Given the description of an element on the screen output the (x, y) to click on. 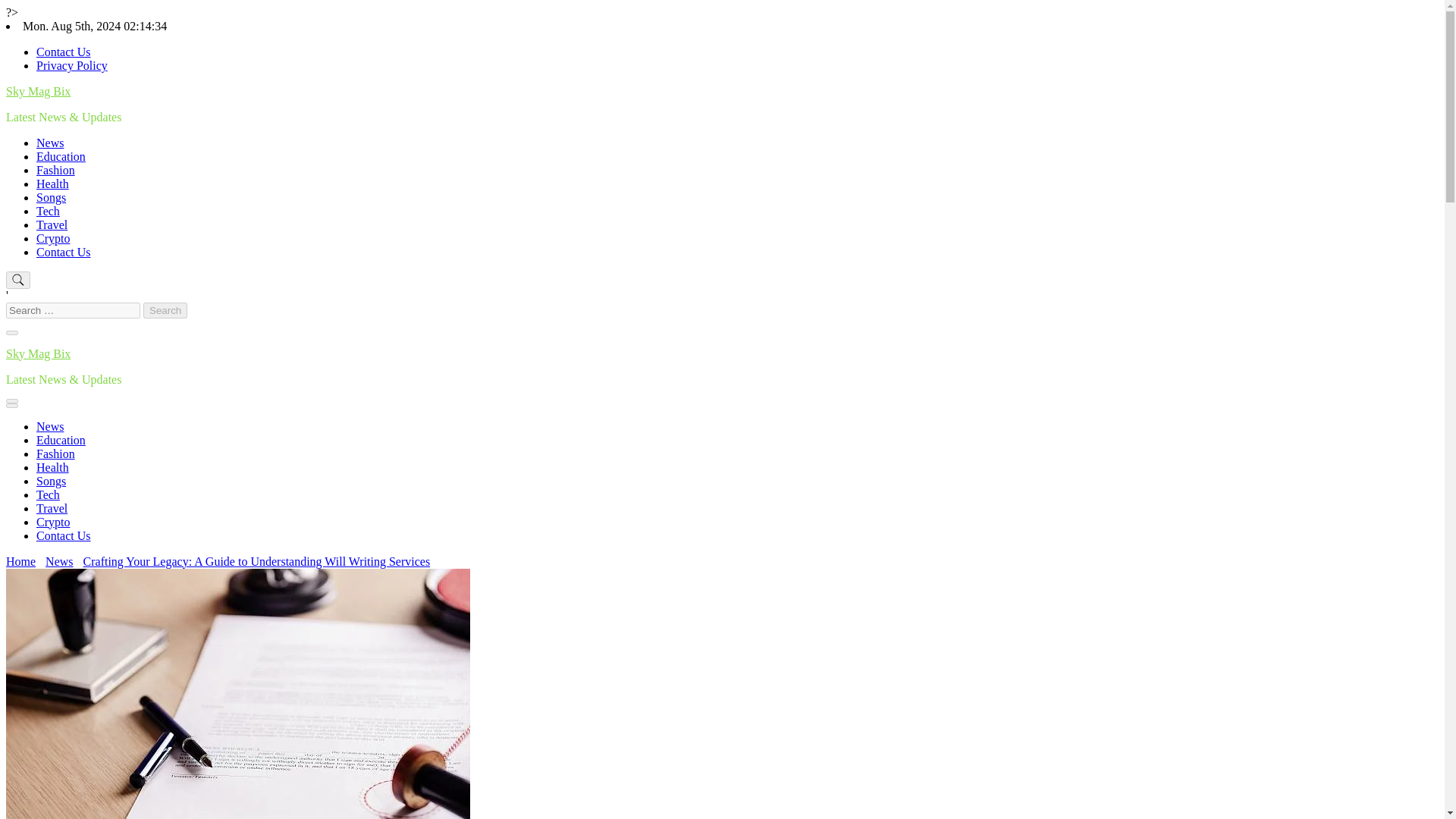
Travel (51, 508)
News (50, 142)
Sky Mag Bix (37, 353)
Tech (47, 210)
Songs (50, 196)
Search (164, 310)
Education (60, 155)
Contact Us (63, 535)
